Given the description of an element on the screen output the (x, y) to click on. 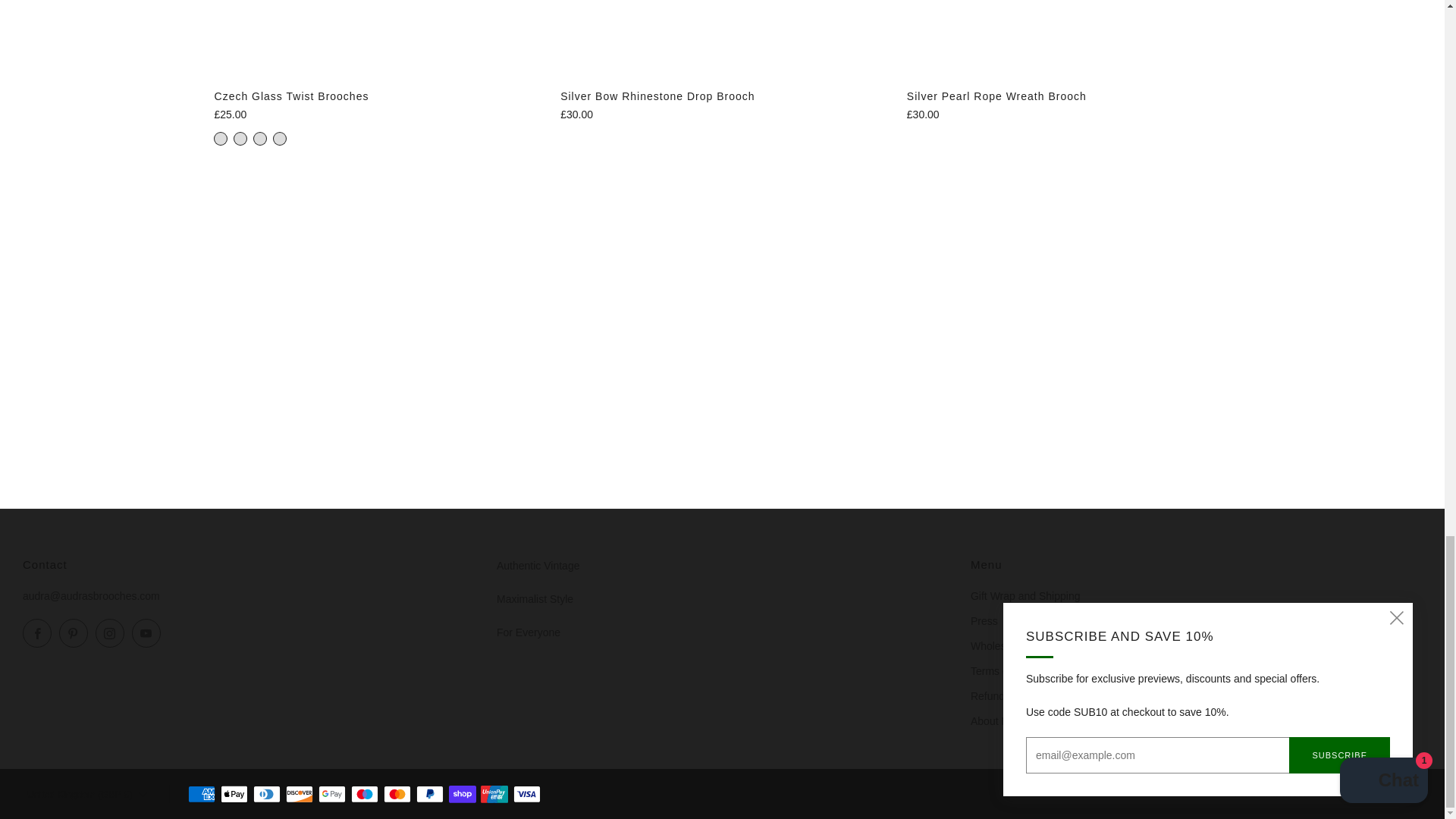
Czech Glass Twist Brooches (376, 96)
Visa (526, 794)
Mastercard (397, 794)
Union Pay (494, 794)
American Express (201, 794)
Maestro (364, 794)
Diners Club (267, 794)
Google Pay (332, 794)
PayPal (430, 794)
Czech Glass Twist Brooches (376, 114)
Shop Pay (462, 794)
Silver Pearl Rope Wreath Brooch (1068, 114)
Apple Pay (234, 794)
Silver Pearl Rope Wreath Brooch (1068, 96)
Silver Bow Rhinestone Drop Brooch (721, 96)
